Given the description of an element on the screen output the (x, y) to click on. 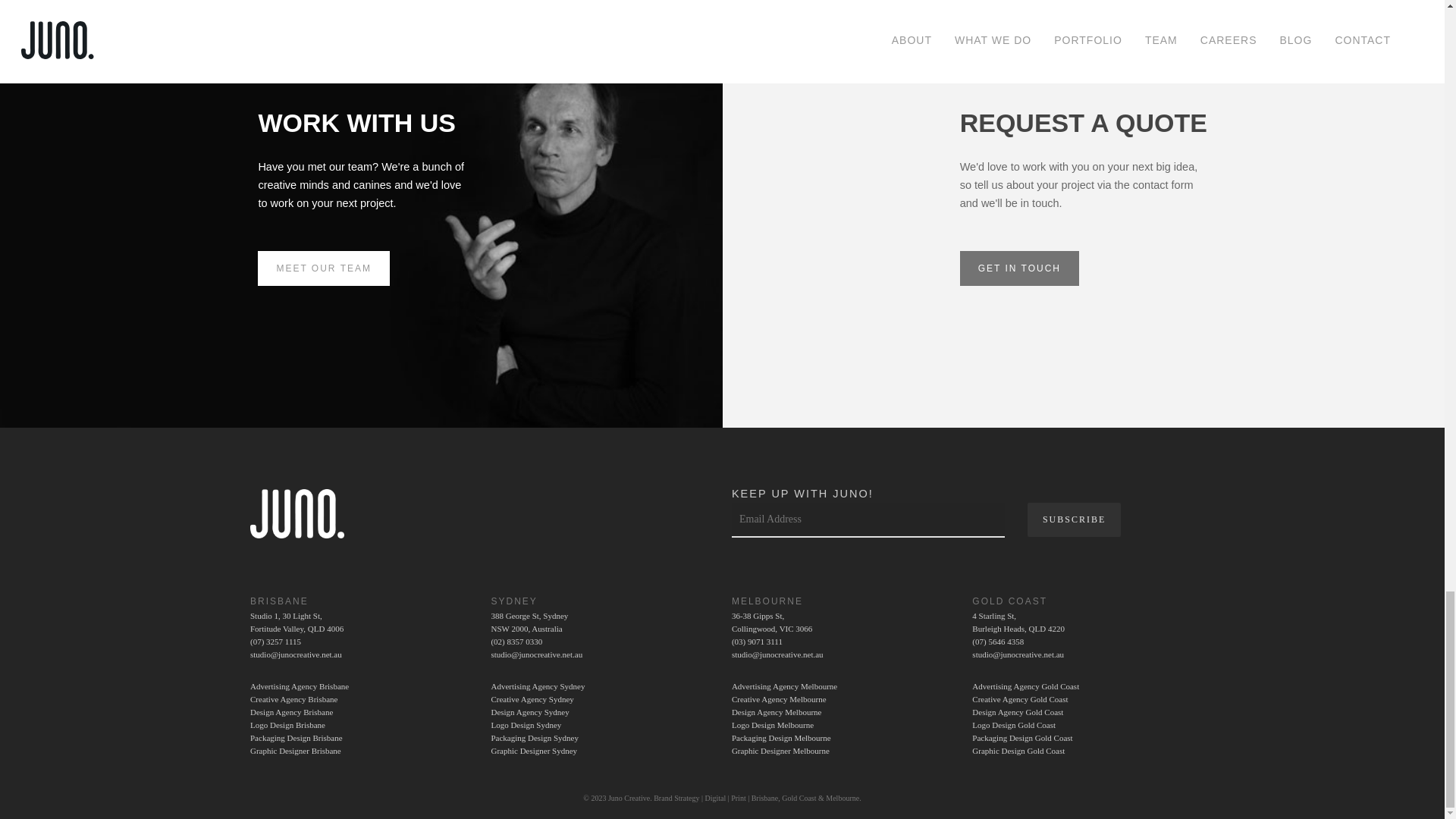
Subscribe (1074, 519)
